Given the description of an element on the screen output the (x, y) to click on. 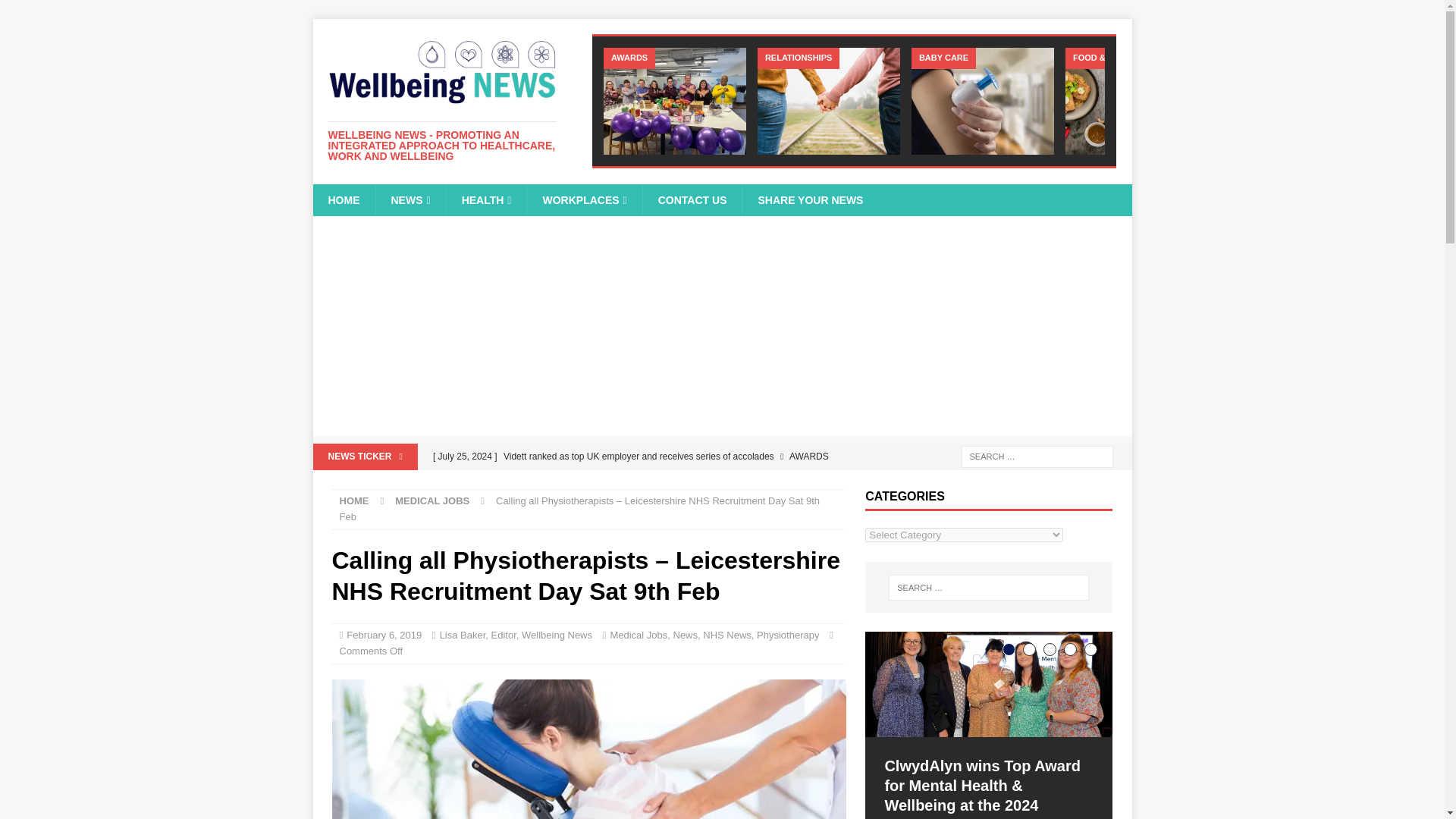
Baby Blues (982, 100)
Ways to work on your health as a couple (828, 100)
